Given the description of an element on the screen output the (x, y) to click on. 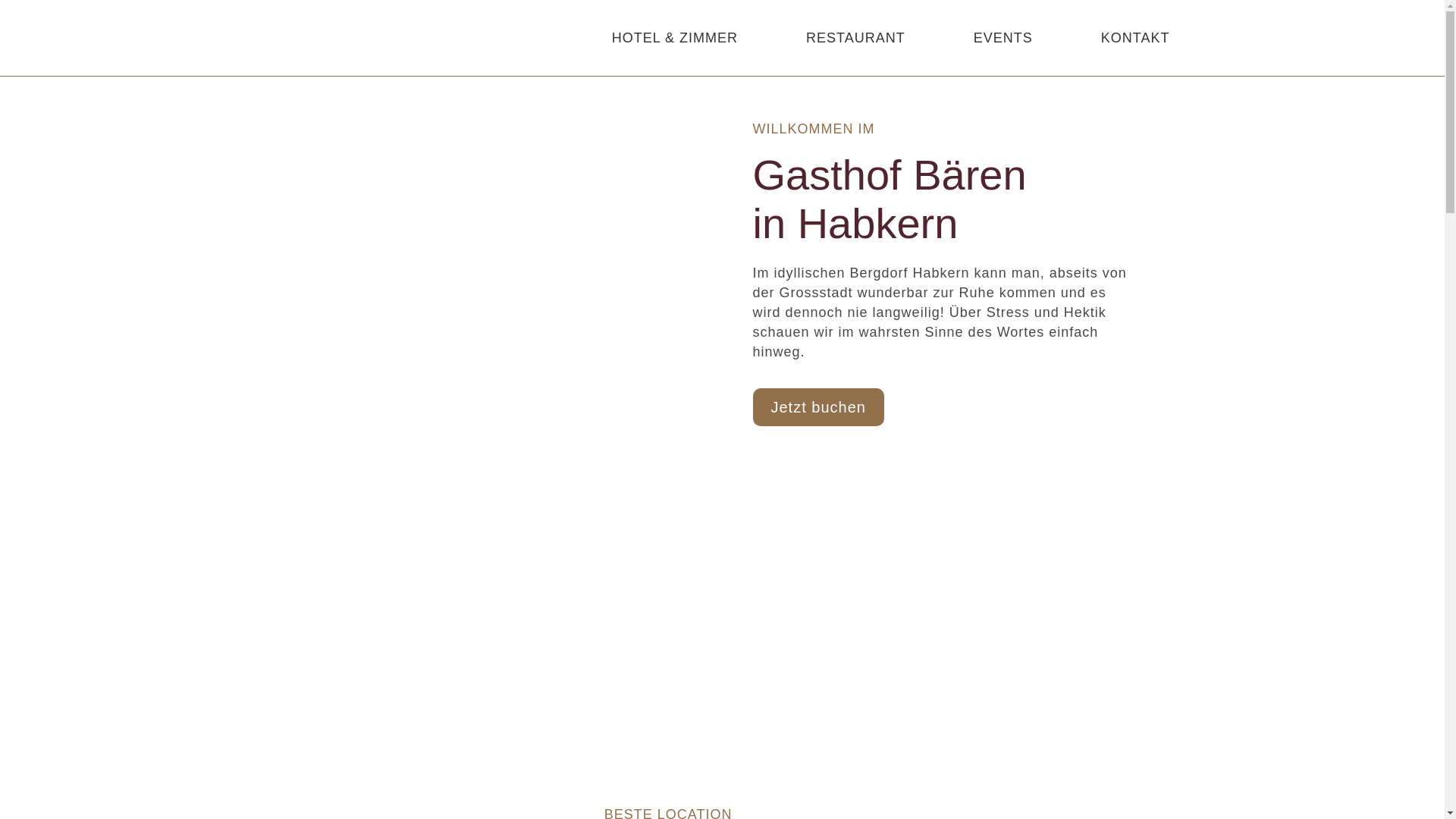
RESTAURANT Element type: text (855, 37)
KONTAKT Element type: text (1135, 37)
HOTEL & ZIMMER Element type: text (674, 37)
EVENTS Element type: text (1003, 37)
Jetzt buchen Element type: text (817, 407)
